Given the description of an element on the screen output the (x, y) to click on. 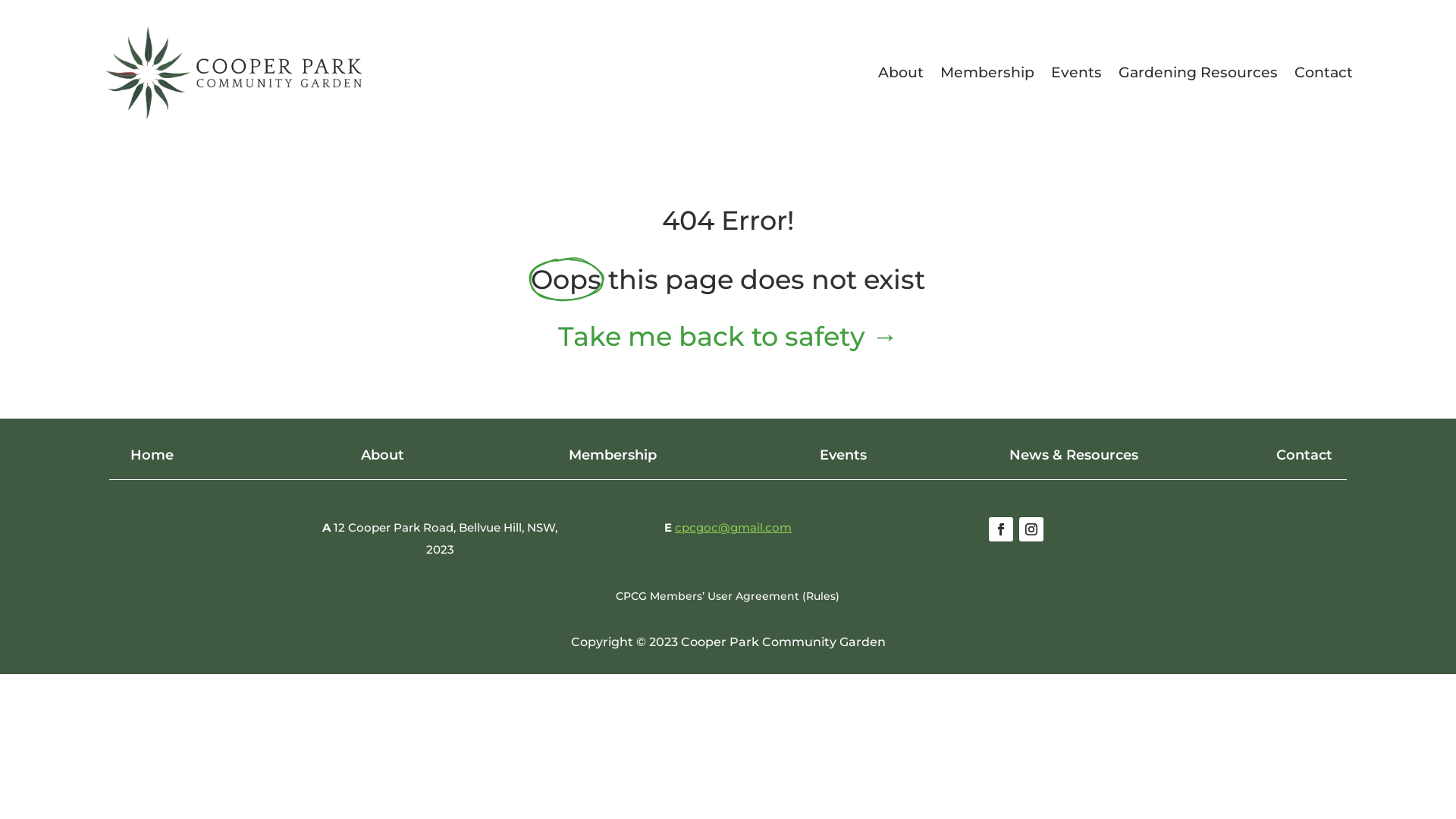
Contact Element type: text (1323, 75)
Events Element type: text (1076, 75)
Membership Element type: text (987, 75)
cpcgoc@gmail.com Element type: text (732, 527)
Follow on Instagram Element type: hover (1031, 529)
CPCG new logo 1.2MB Element type: hover (233, 72)
Follow on Facebook Element type: hover (1000, 529)
About Element type: text (900, 75)
Gardening Resources Element type: text (1197, 75)
